Given the description of an element on the screen output the (x, y) to click on. 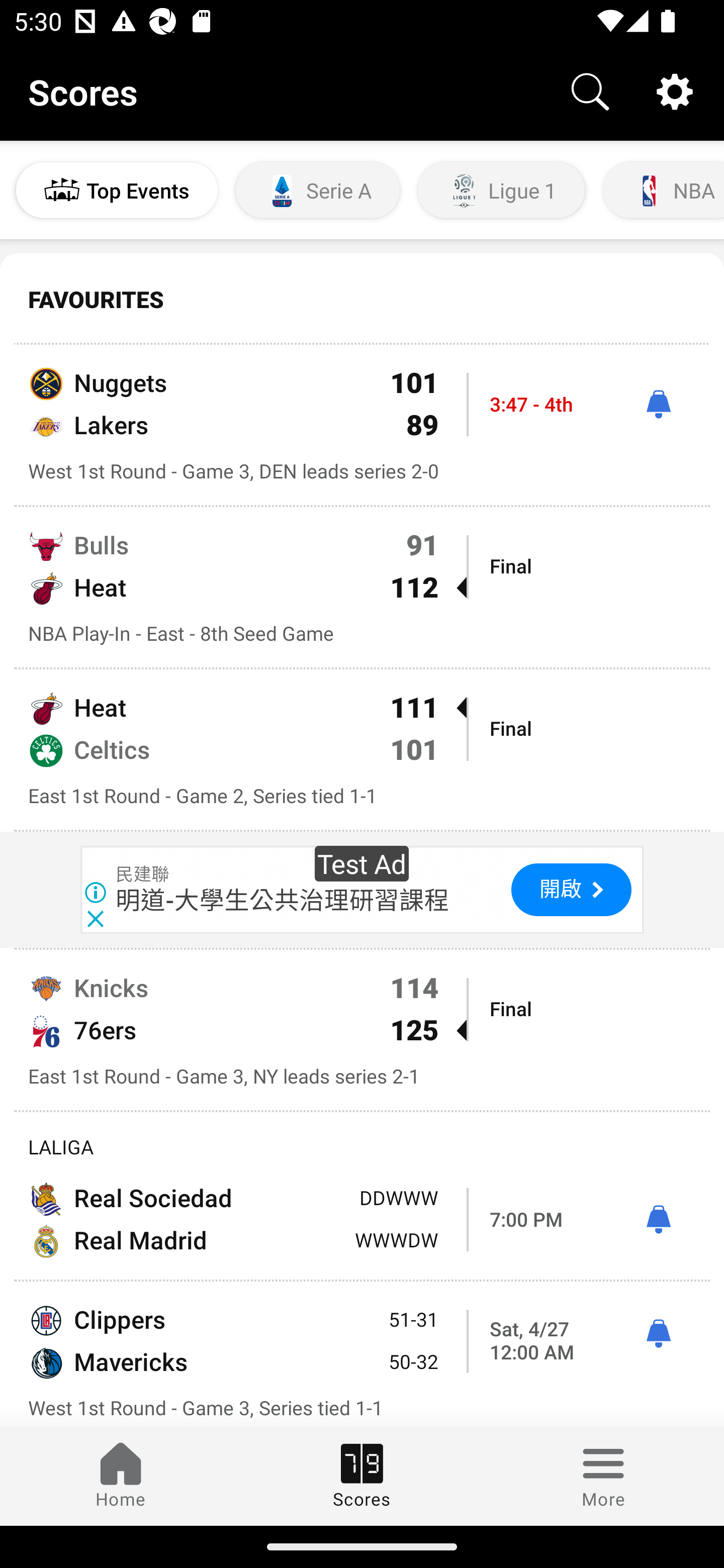
Search (590, 90)
Settings (674, 90)
 Top Events (116, 190)
Serie A (317, 190)
Ligue 1 (500, 190)
NBA (661, 190)
FAVOURITES (362, 299)
ì (658, 404)
ì (658, 1219)
ì (658, 1334)
Home (120, 1475)
More (603, 1475)
